Given the description of an element on the screen output the (x, y) to click on. 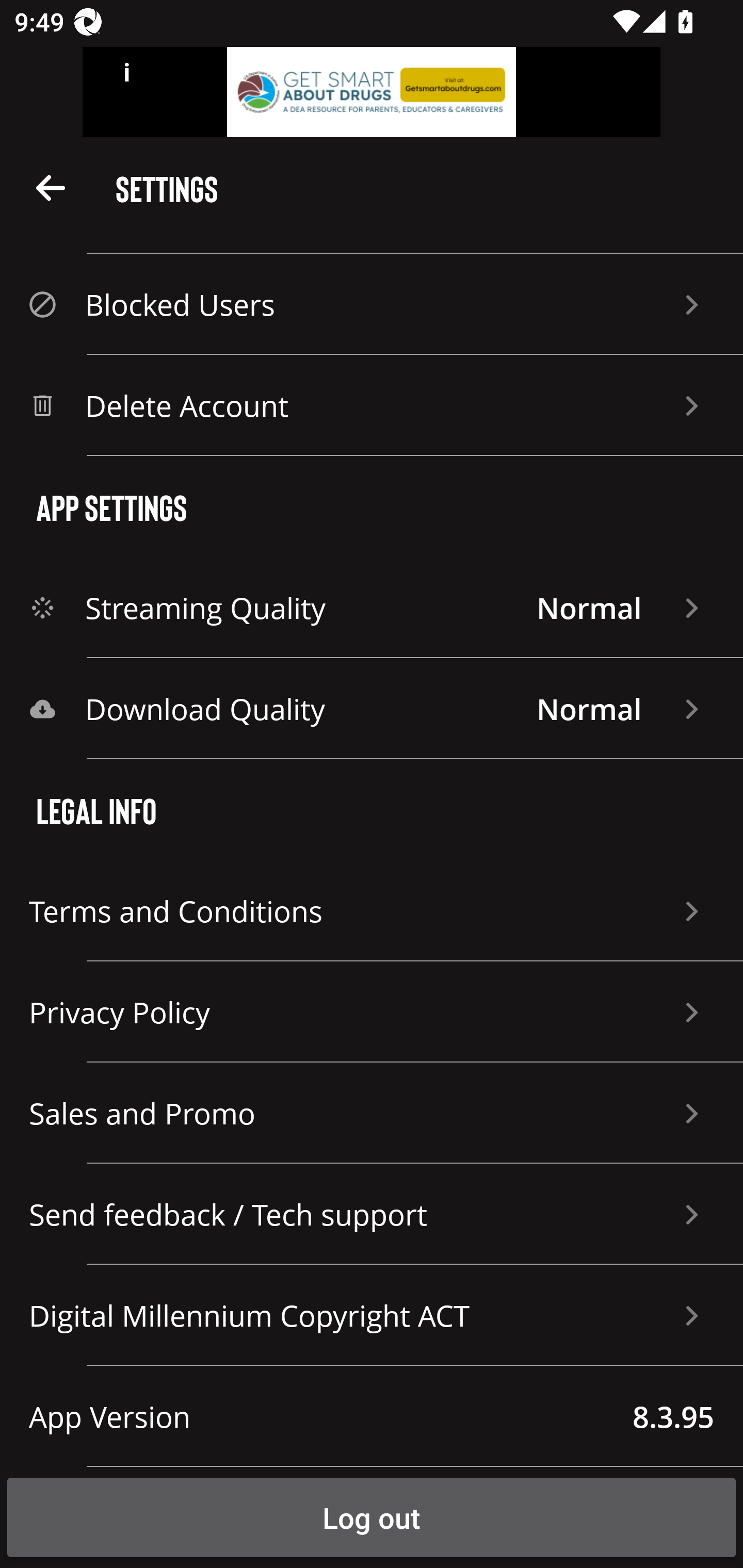
Description (50, 187)
Blocked Users (371, 304)
Delete Account (371, 405)
Streaming Quality Normal (371, 607)
Download Quality Normal (371, 708)
Terms and Conditions (371, 910)
Privacy Policy (371, 1012)
Sales and Promo (371, 1113)
Send feedback / Tech support (371, 1214)
Digital Millennium Copyright ACT (371, 1315)
Log out (371, 1517)
